Given the description of an element on the screen output the (x, y) to click on. 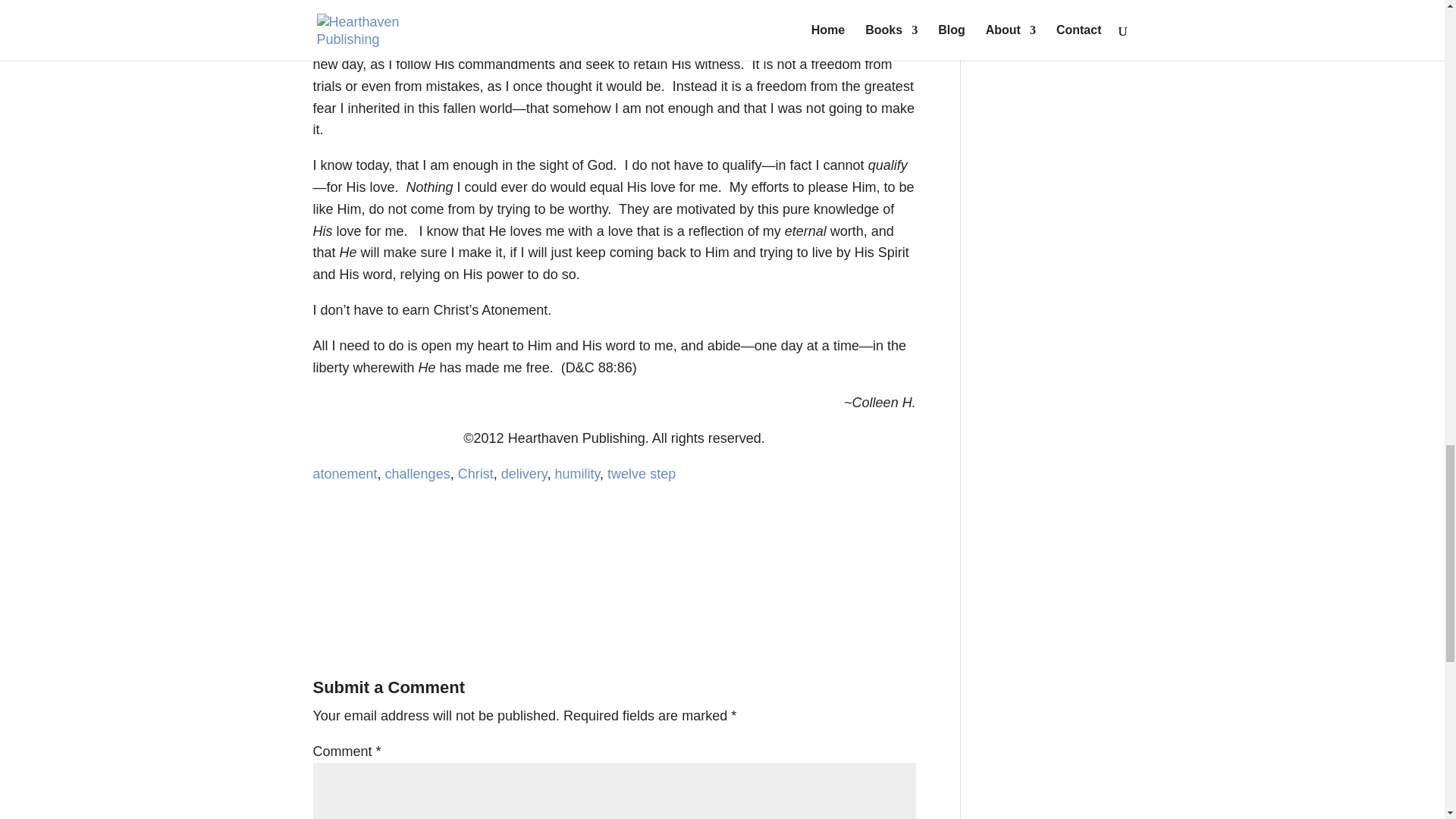
challenges (417, 473)
twelve step (641, 473)
humility (576, 473)
atonement (345, 473)
delivery (523, 473)
Christ (475, 473)
